Given the description of an element on the screen output the (x, y) to click on. 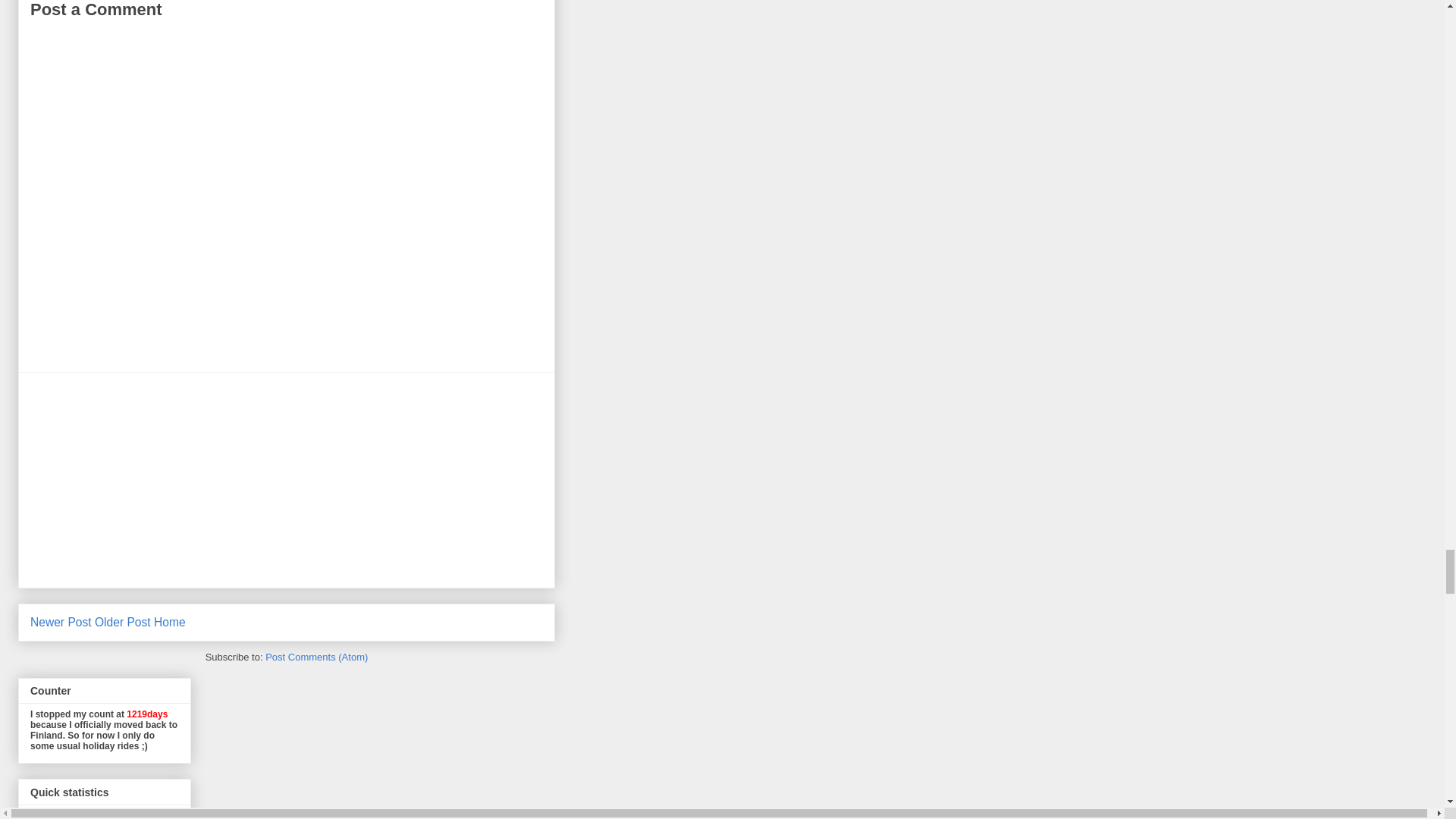
Older Post (122, 621)
Newer Post (60, 621)
